Given the description of an element on the screen output the (x, y) to click on. 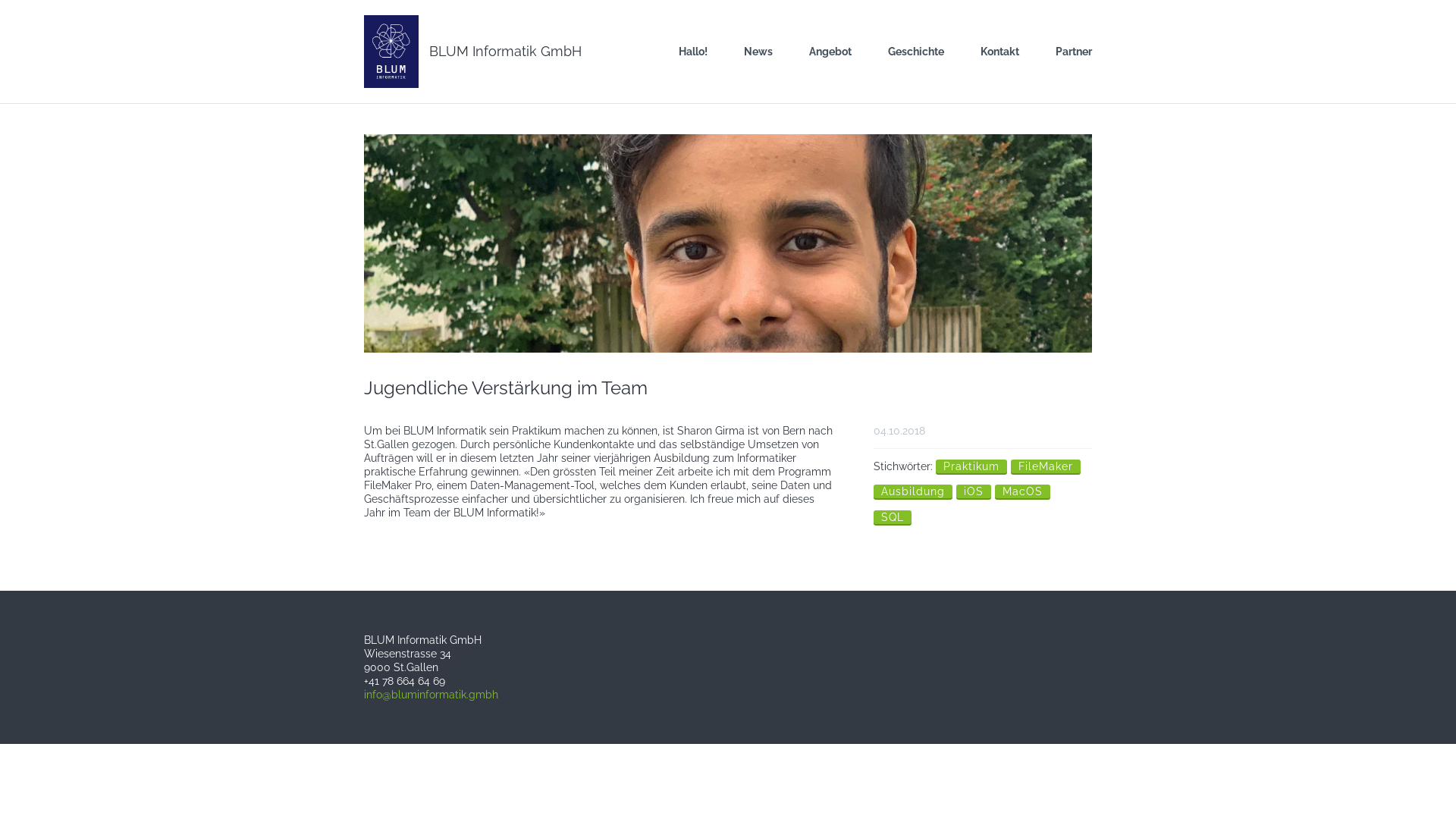
info@bluminformatik.gmbh Element type: text (431, 694)
Praktikum Element type: text (971, 466)
Partner Element type: text (1065, 51)
Geschichte Element type: text (915, 51)
BLUM Informatik GmbH Element type: text (505, 51)
Angebot Element type: text (830, 51)
iOS Element type: text (973, 491)
News Element type: text (758, 51)
Hallo! Element type: text (693, 51)
Ausbildung Element type: text (912, 491)
SQL Element type: text (892, 517)
FileMaker Element type: text (1045, 466)
Kontakt Element type: text (999, 51)
MacOS Element type: text (1022, 491)
